Given the description of an element on the screen output the (x, y) to click on. 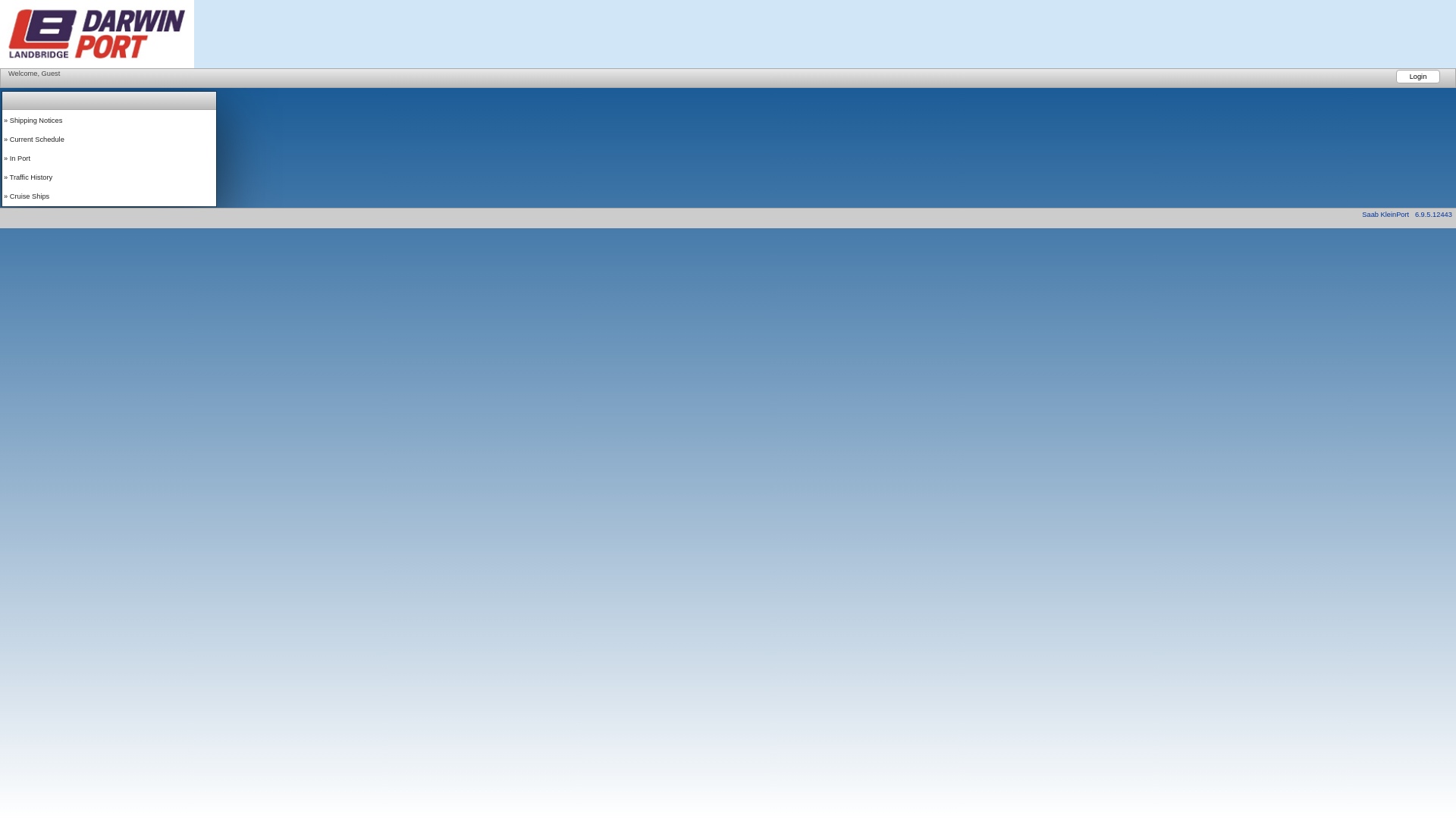
Login Element type: text (1418, 76)
Saab KleinPort Element type: text (1384, 214)
Go to Darwin Port Website Element type: hover (97, 64)
